Given the description of an element on the screen output the (x, y) to click on. 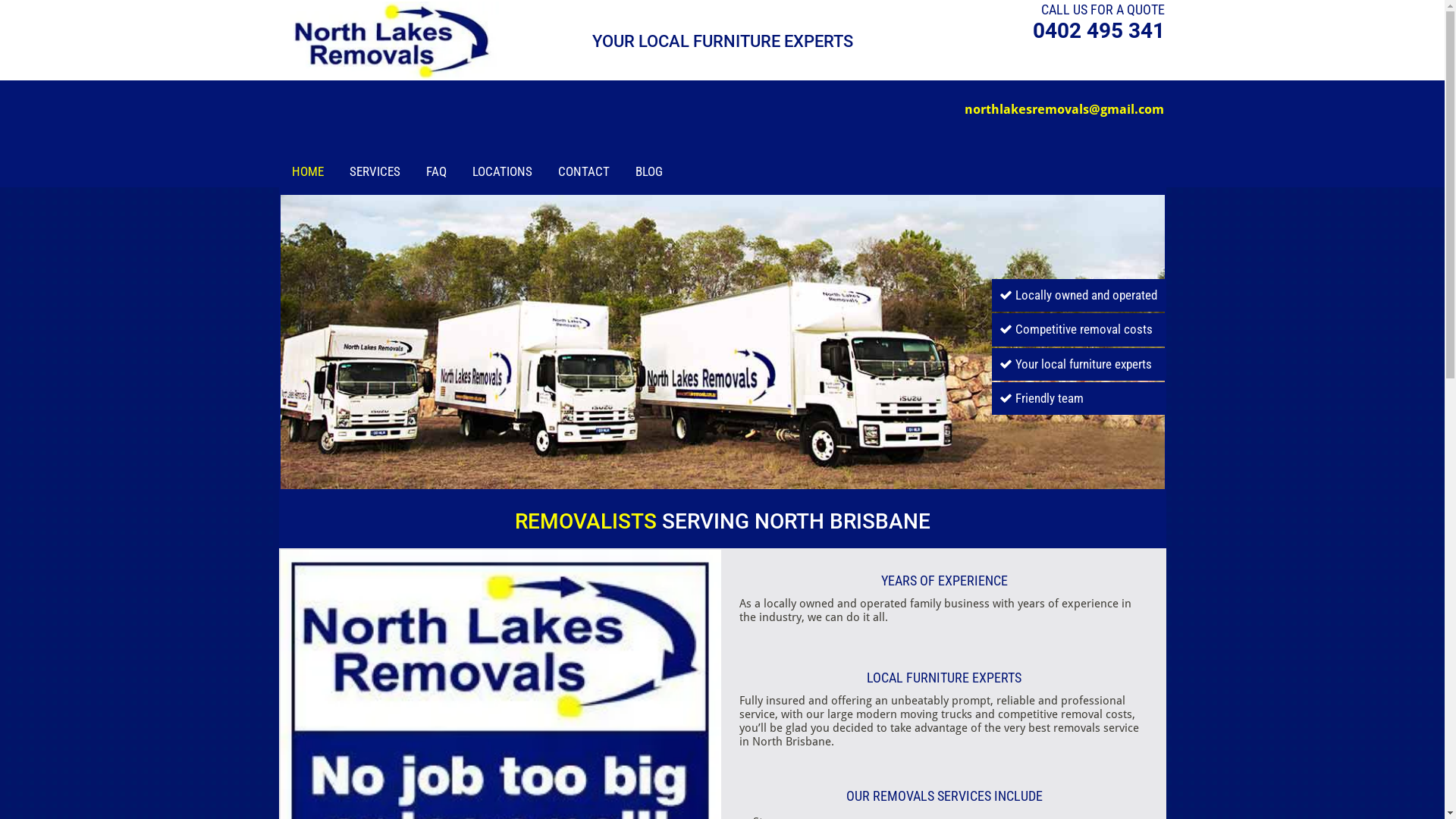
LOCATIONS Element type: text (501, 171)
0402 495 341 Element type: text (1098, 30)
CONTACT Element type: text (583, 171)
North Lakes Removals Logo Element type: hover (389, 39)
northlakesremovals@gmail.com Element type: text (1064, 116)
FAQ Element type: text (436, 171)
HOME Element type: text (307, 171)
SERVICES Element type: text (373, 171)
North-Lakes-Removals-Trucks Element type: hover (722, 341)
BLOG Element type: text (648, 171)
